Given the description of an element on the screen output the (x, y) to click on. 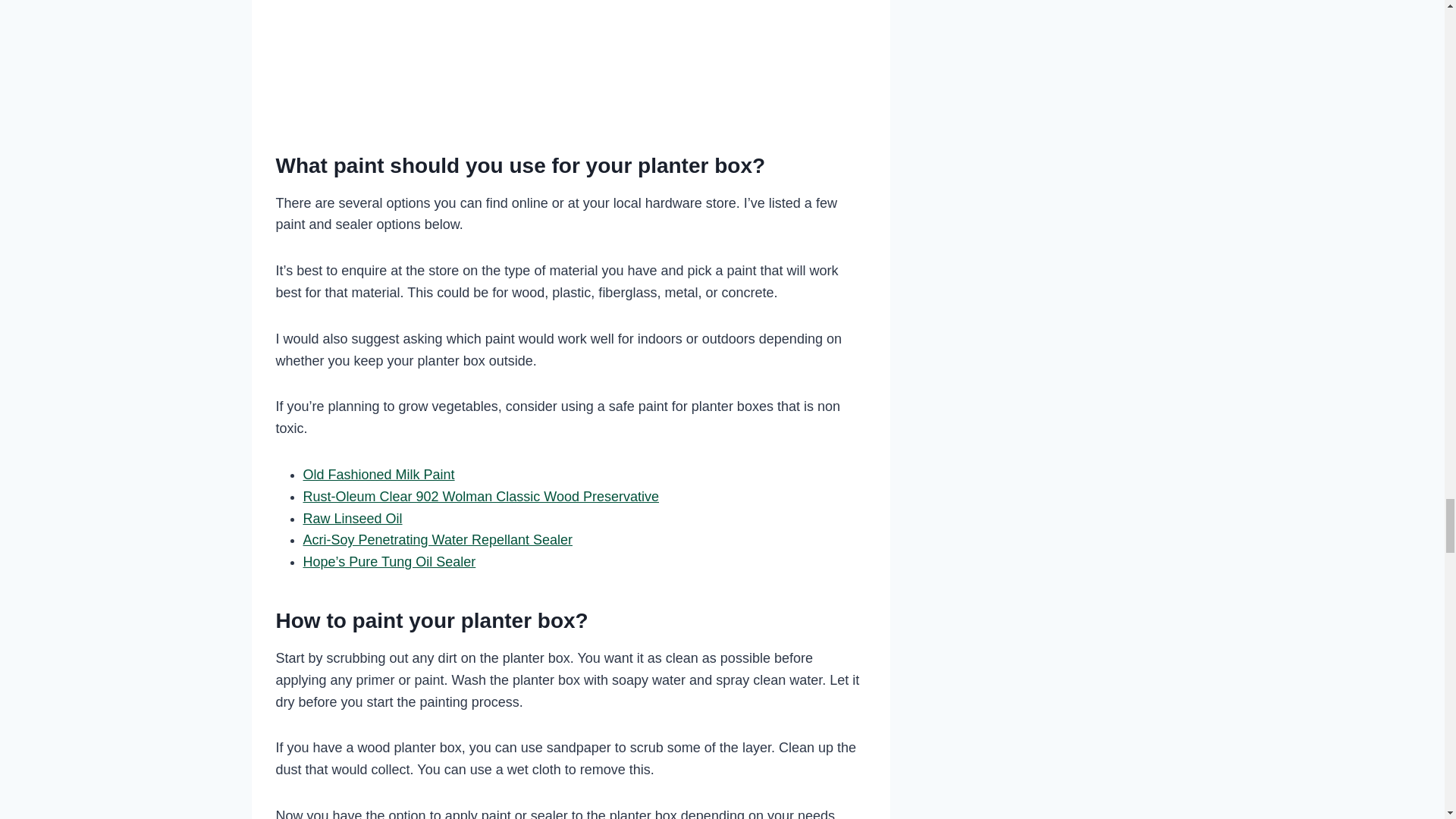
Acri-Soy Penetrating Water Repellant Sealer (437, 539)
Raw Linseed Oil (352, 518)
Rust-Oleum Clear 902 Wolman Classic Wood Preservative (480, 496)
Old Fashioned Milk Paint (378, 474)
